Given the description of an element on the screen output the (x, y) to click on. 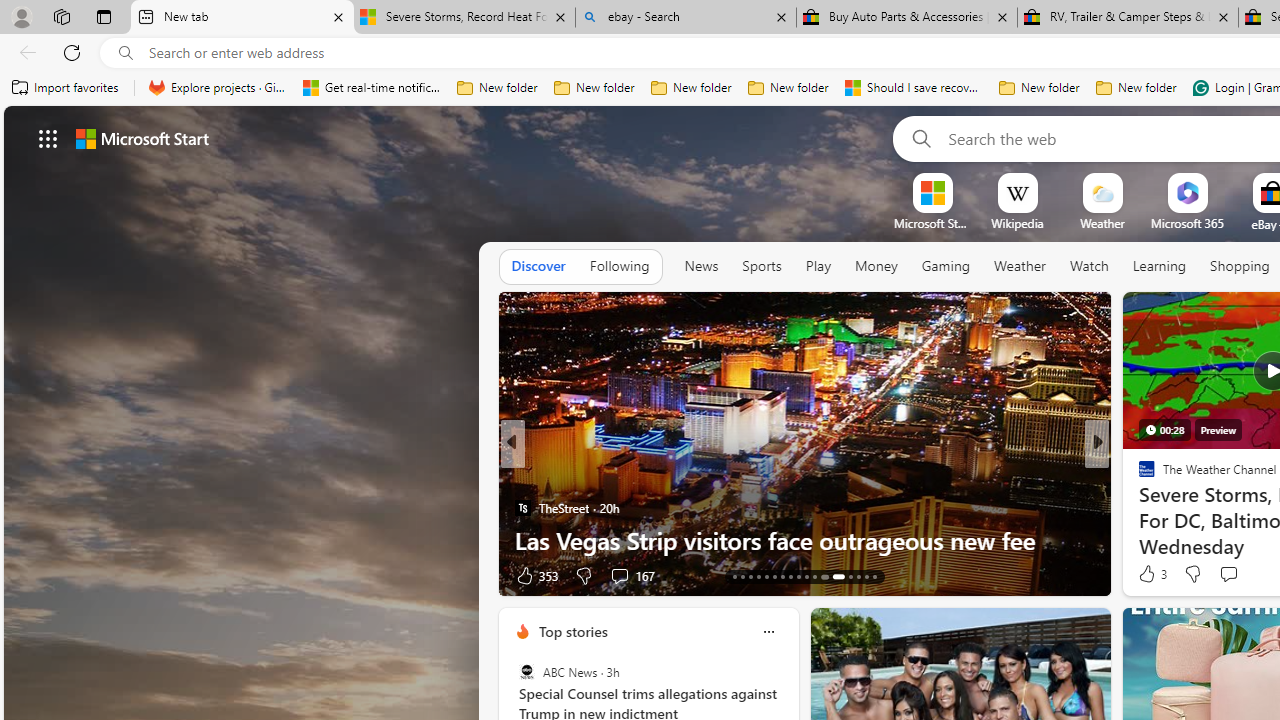
Watch (1089, 267)
AutomationID: tab-27 (857, 576)
ebay - Search (686, 17)
New folder (1136, 88)
Should I save recovered Word documents? - Microsoft Support (913, 88)
AutomationID: tab-19 (782, 576)
Microsoft start (142, 138)
Dislike (1191, 574)
AutomationID: tab-24 (821, 576)
AutomationID: tab-16 (757, 576)
